Given the description of an element on the screen output the (x, y) to click on. 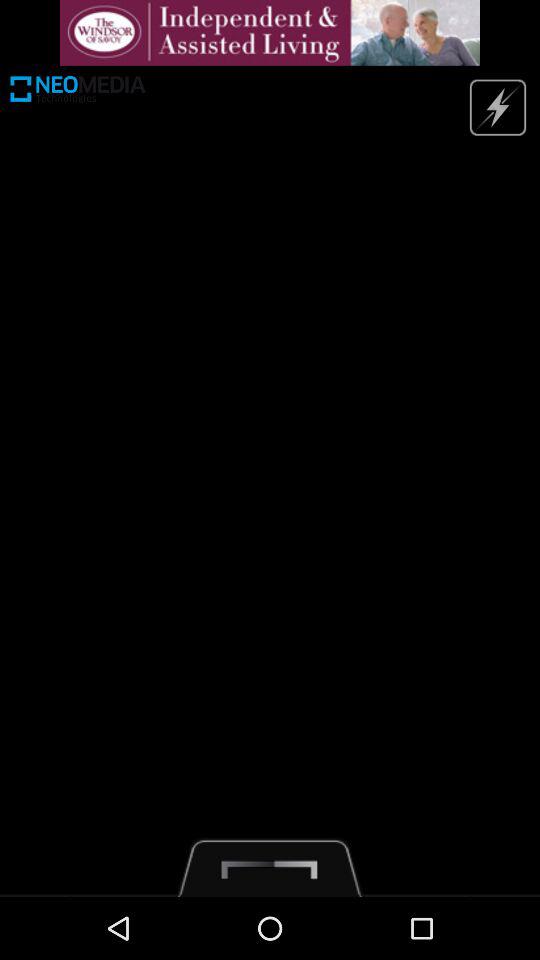
notifications (270, 32)
